Given the description of an element on the screen output the (x, y) to click on. 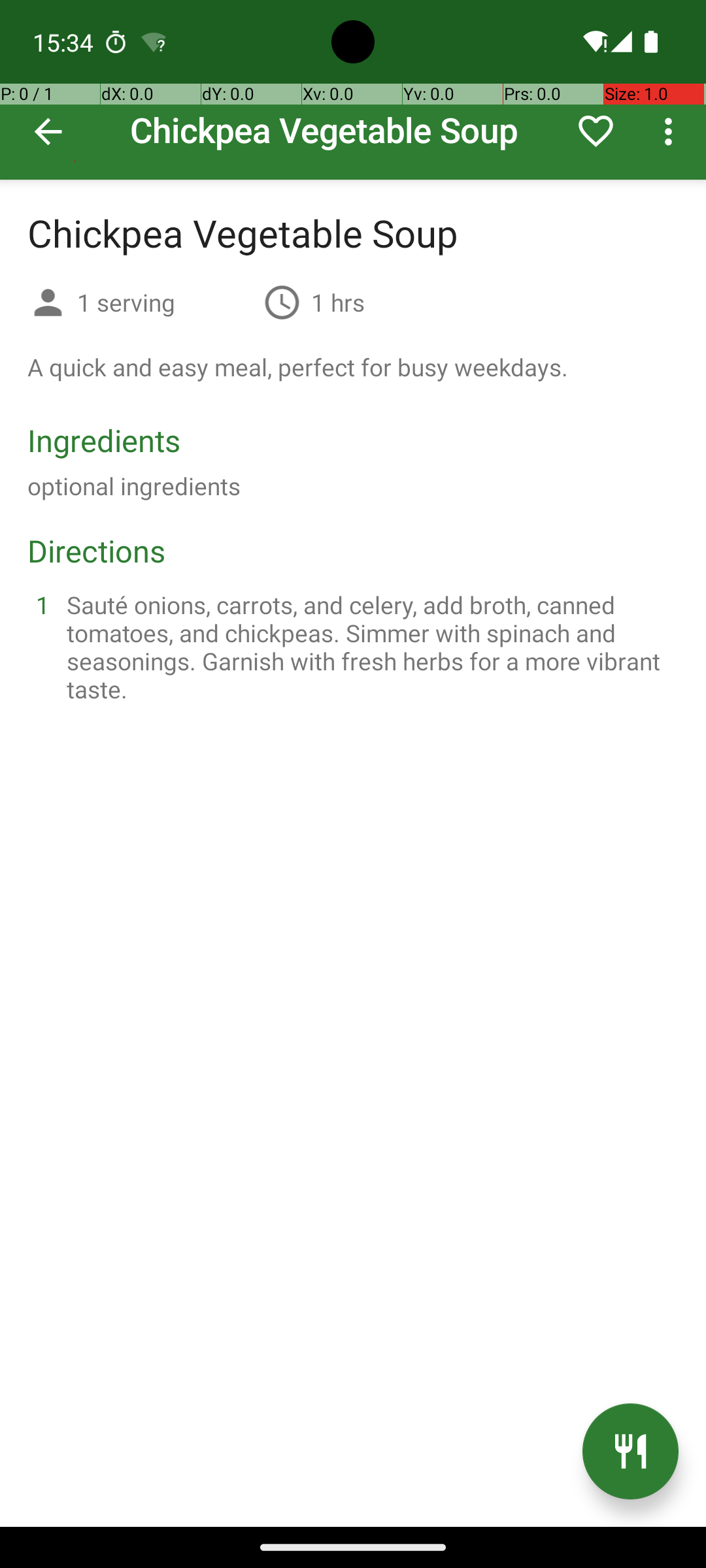
Sauté onions, carrots, and celery, add broth, canned tomatoes, and chickpeas. Simmer with spinach and seasonings. Garnish with fresh herbs for a more vibrant taste. Element type: android.widget.TextView (368, 646)
